Given the description of an element on the screen output the (x, y) to click on. 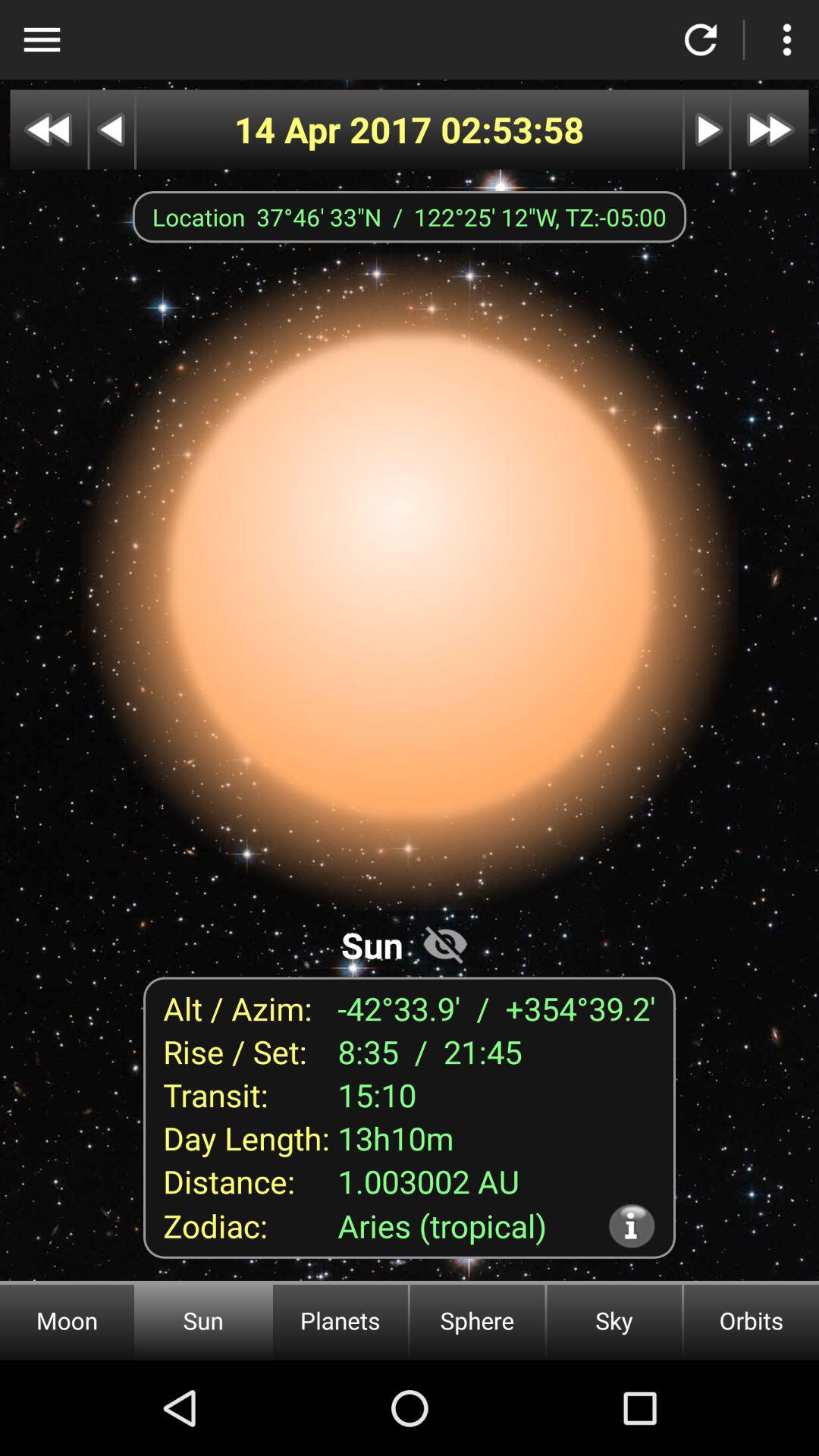
go back (48, 129)
